Given the description of an element on the screen output the (x, y) to click on. 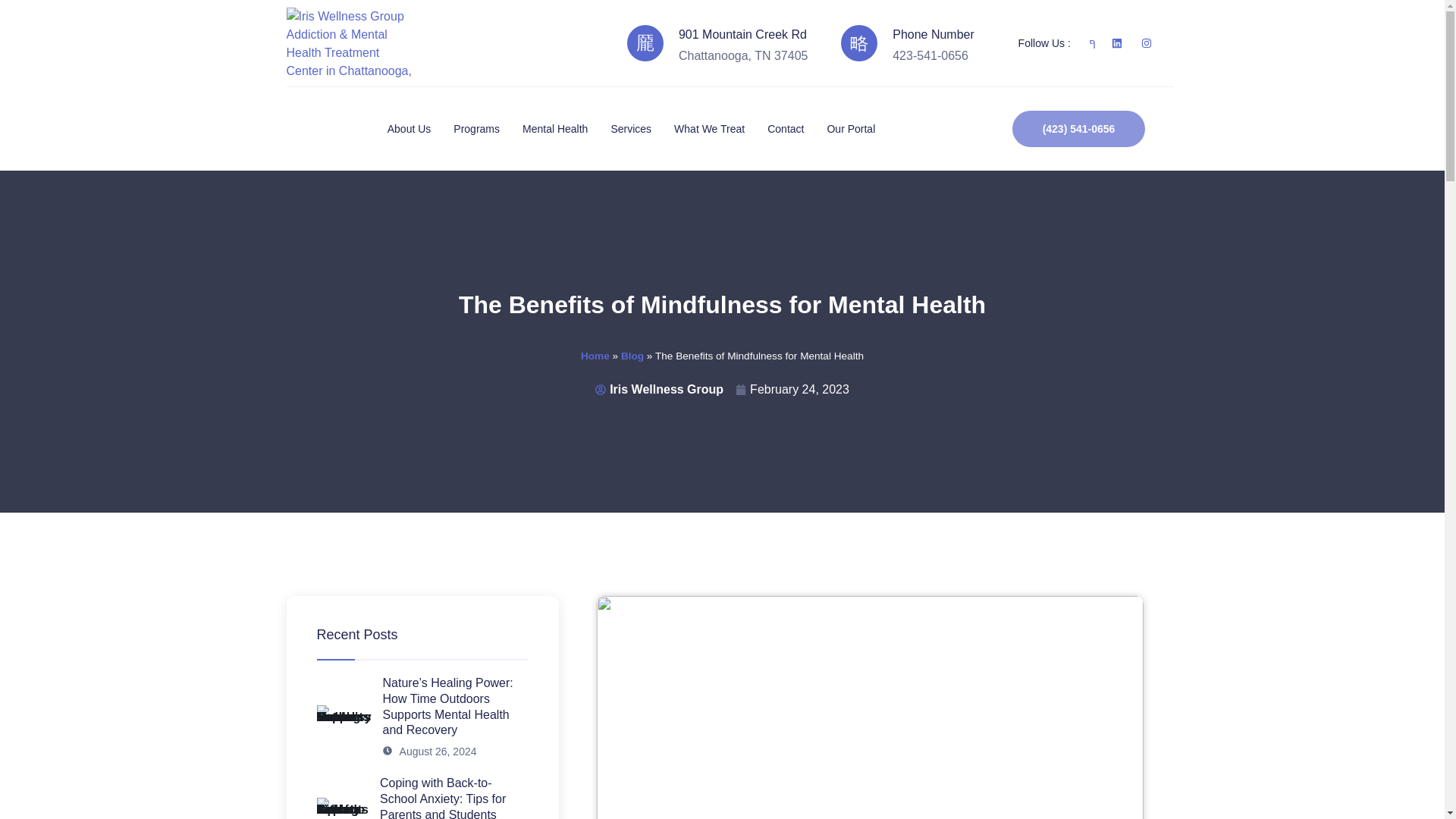
About Us (420, 128)
Mental Health (566, 128)
Programs (487, 128)
901 Mountain Creek Rd (742, 33)
Services (642, 128)
Phone Number (933, 33)
